Given the description of an element on the screen output the (x, y) to click on. 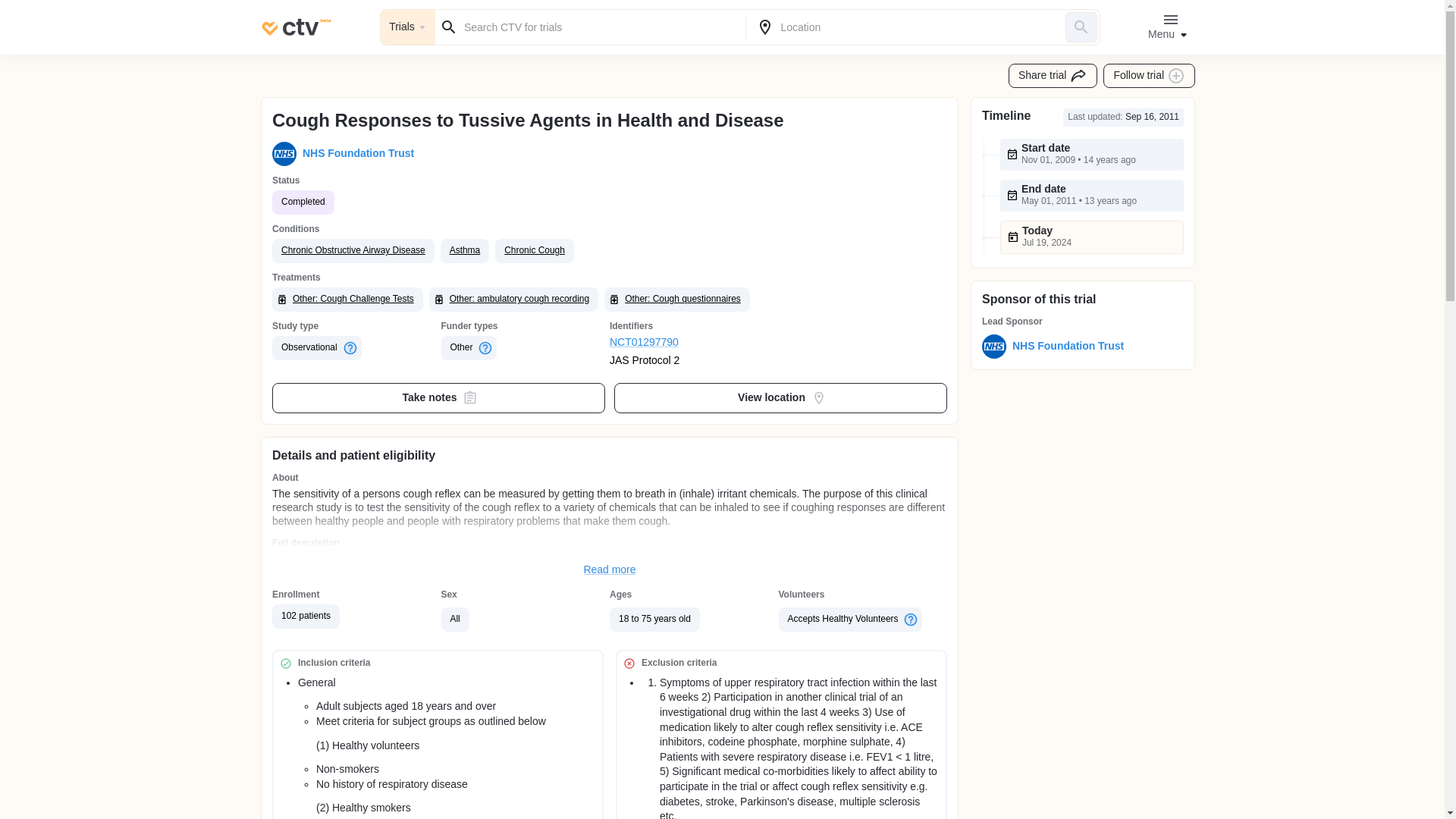
Trials (407, 27)
Share trial (1053, 75)
NHS Foundation Trust (1065, 345)
Take notes (438, 398)
Follow trial (1149, 75)
NCT01297790 (694, 342)
NHS Foundation Trust (355, 153)
Read more (609, 570)
View location (780, 398)
